Given the description of an element on the screen output the (x, y) to click on. 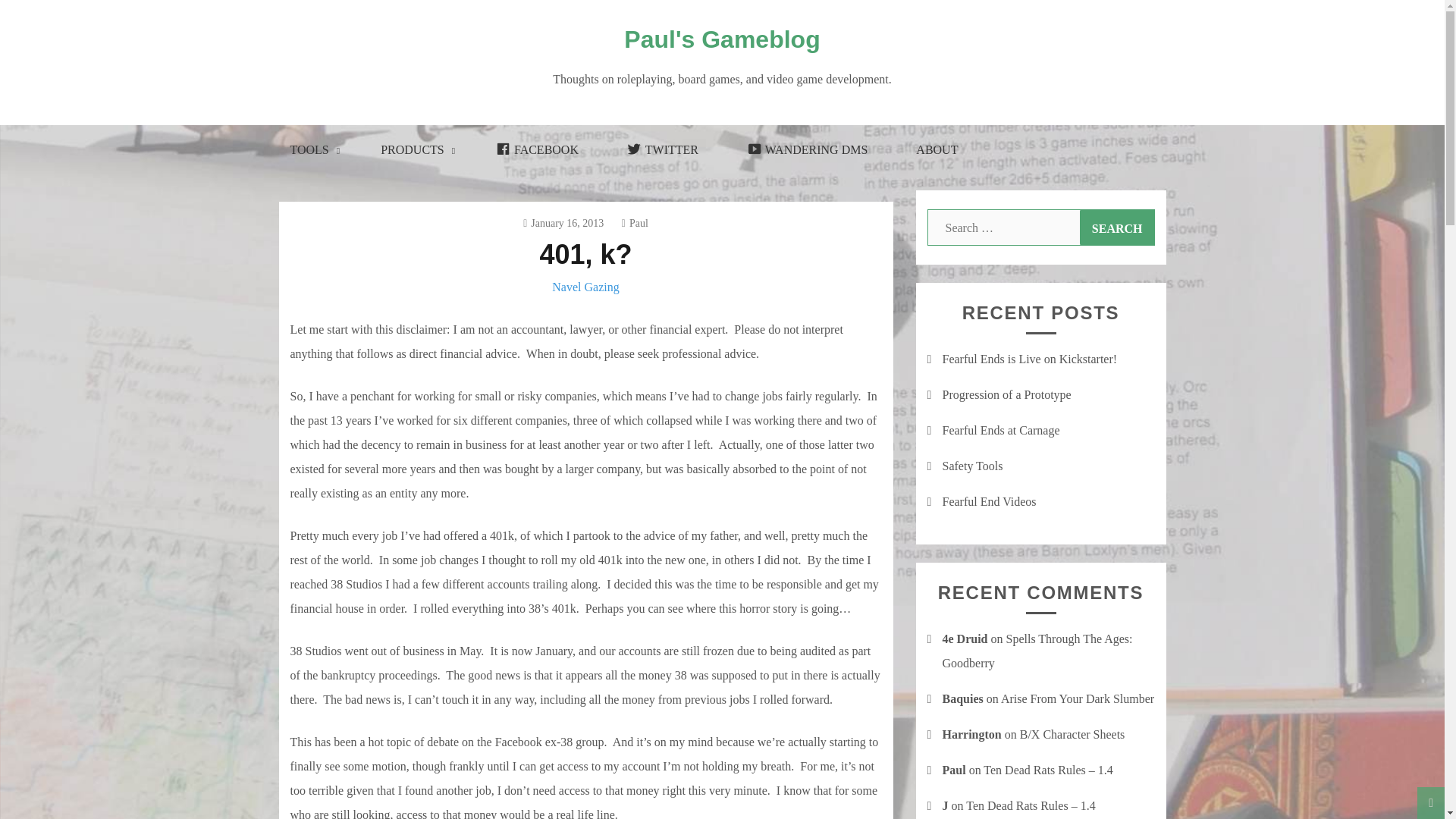
Paul (634, 223)
Paul's Gameblog (721, 39)
Search (1117, 227)
PRODUCTS (414, 150)
Search (1117, 227)
Fearful Ends is Live on Kickstarter! (1029, 358)
TOOLS (310, 150)
TWITTER (662, 150)
January 16, 2013 (563, 223)
FACEBOOK (537, 150)
Navel Gazing (584, 286)
WANDERING DMS (806, 150)
Search (1117, 227)
ABOUT (936, 150)
